Given the description of an element on the screen output the (x, y) to click on. 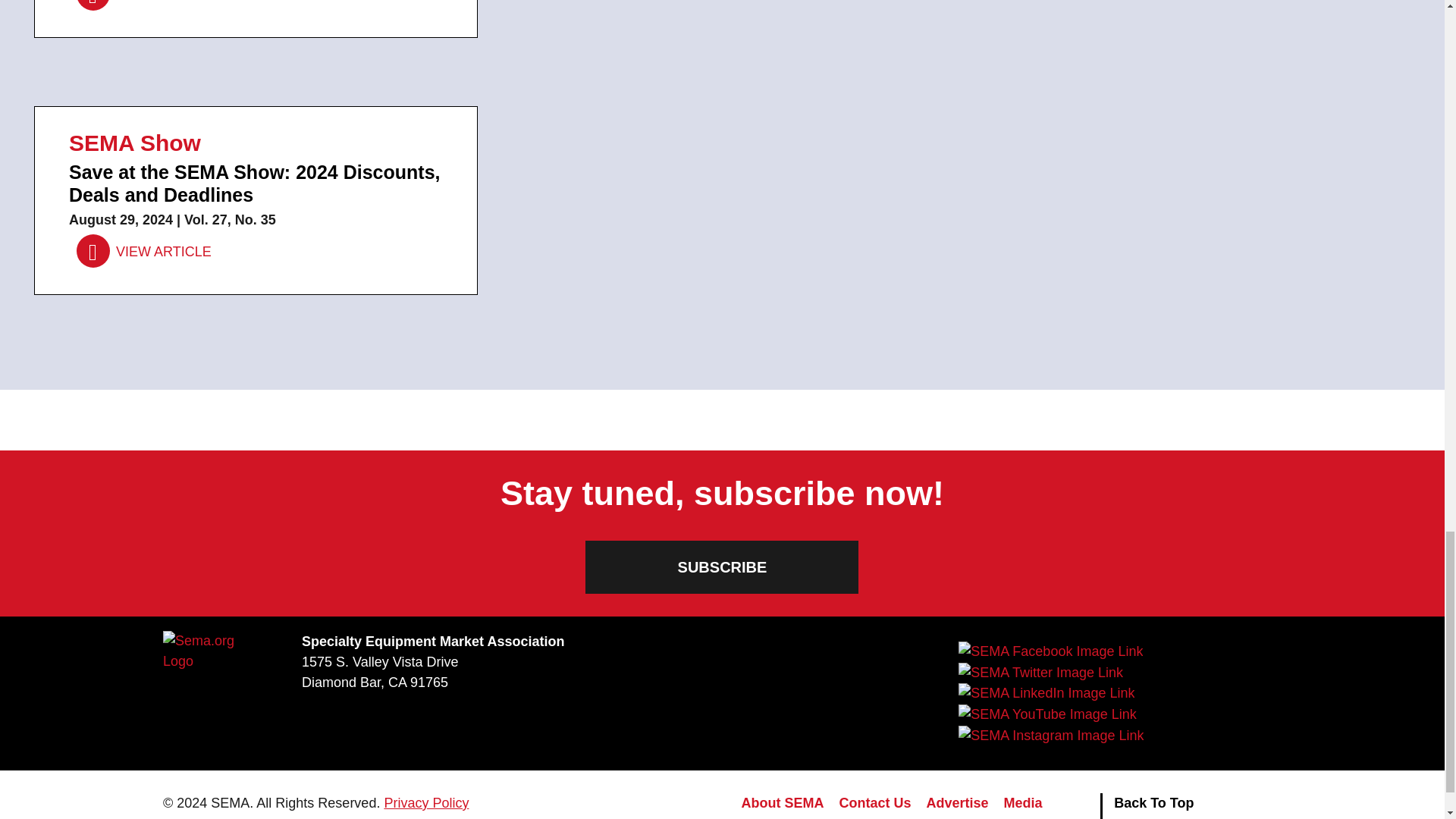
Privacy Policy (426, 802)
SEMA Facebook Link (1050, 650)
SEMA LinkedIn Link (1046, 693)
VIEW ARTICLE (143, 4)
SUBSCRIBE (722, 566)
SEMA YouTube Link (1046, 713)
SEMA Instagram Link (1050, 735)
Save at the SEMA Show: 2024 Discounts, Deals and Deadlines (143, 251)
VIEW ARTICLE (143, 251)
